Given the description of an element on the screen output the (x, y) to click on. 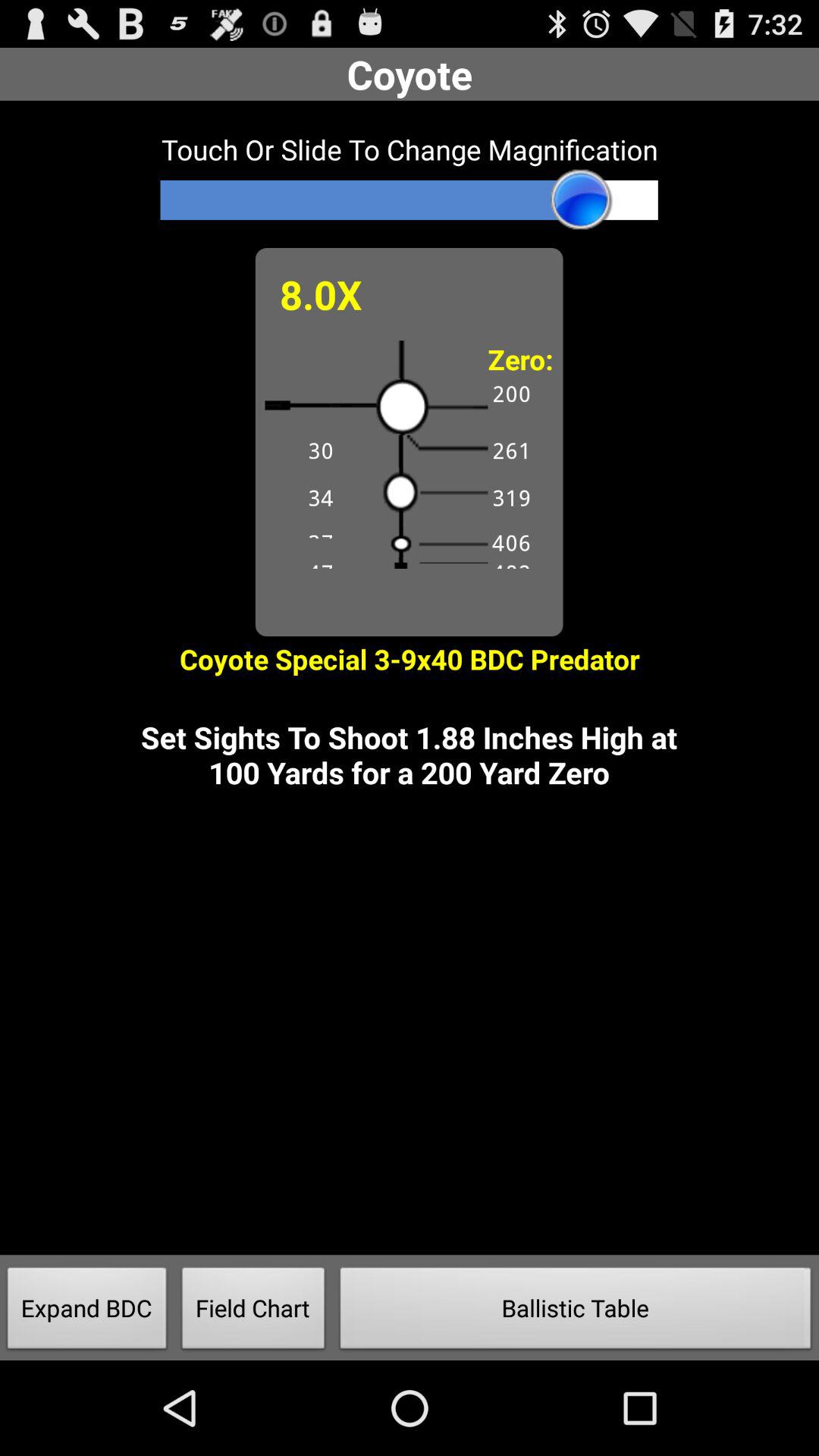
select the item to the right of the field chart (575, 1312)
